Given the description of an element on the screen output the (x, y) to click on. 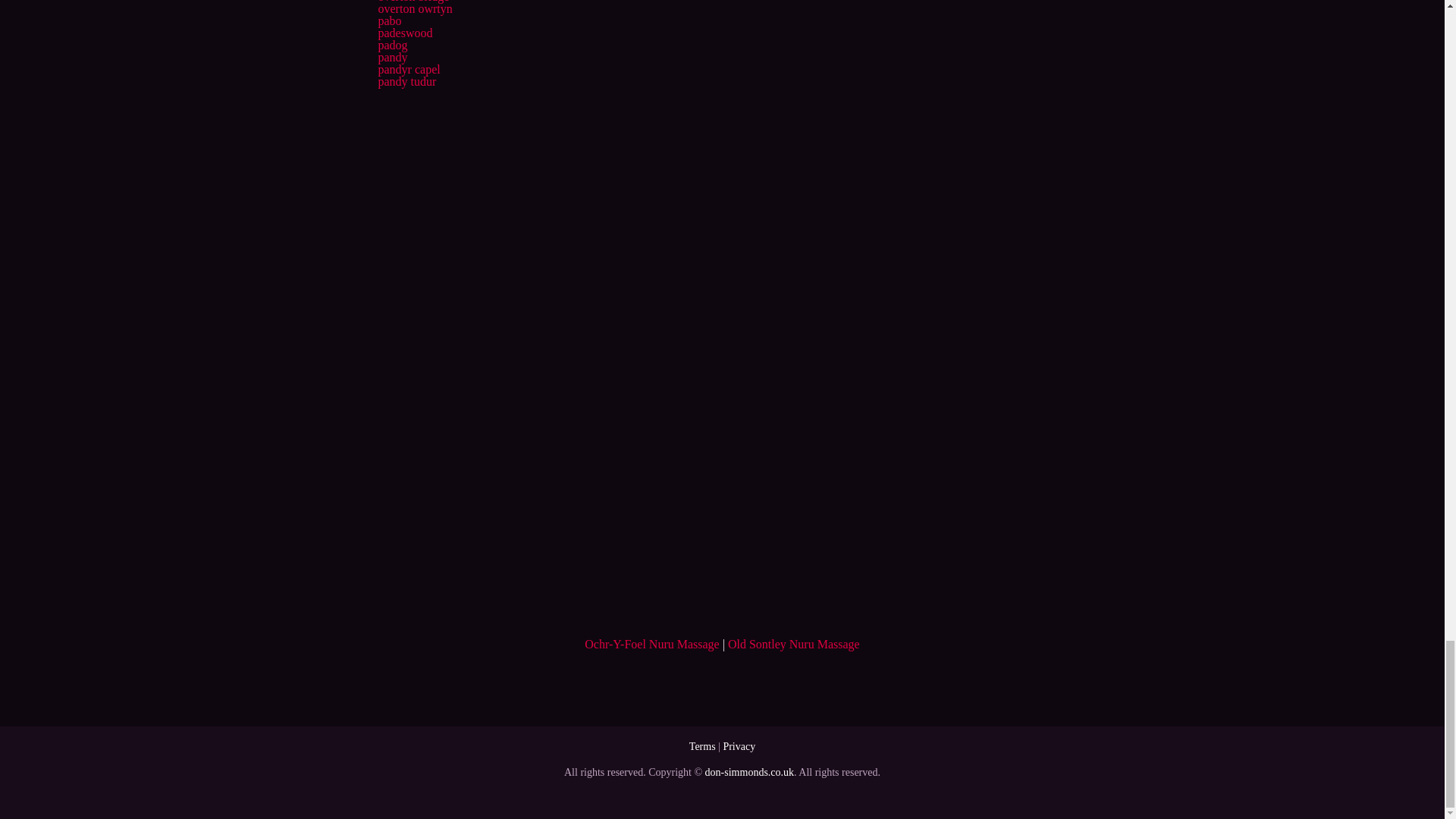
Terms (702, 746)
Privacy (738, 746)
Terms (702, 746)
Ochr-Y-Foel Nuru Massage (652, 644)
don-simmonds.co.uk (748, 772)
pandyr capel (408, 69)
pandy (392, 56)
overton owrtyn (414, 8)
padog (392, 44)
padeswood (404, 32)
